Given the description of an element on the screen output the (x, y) to click on. 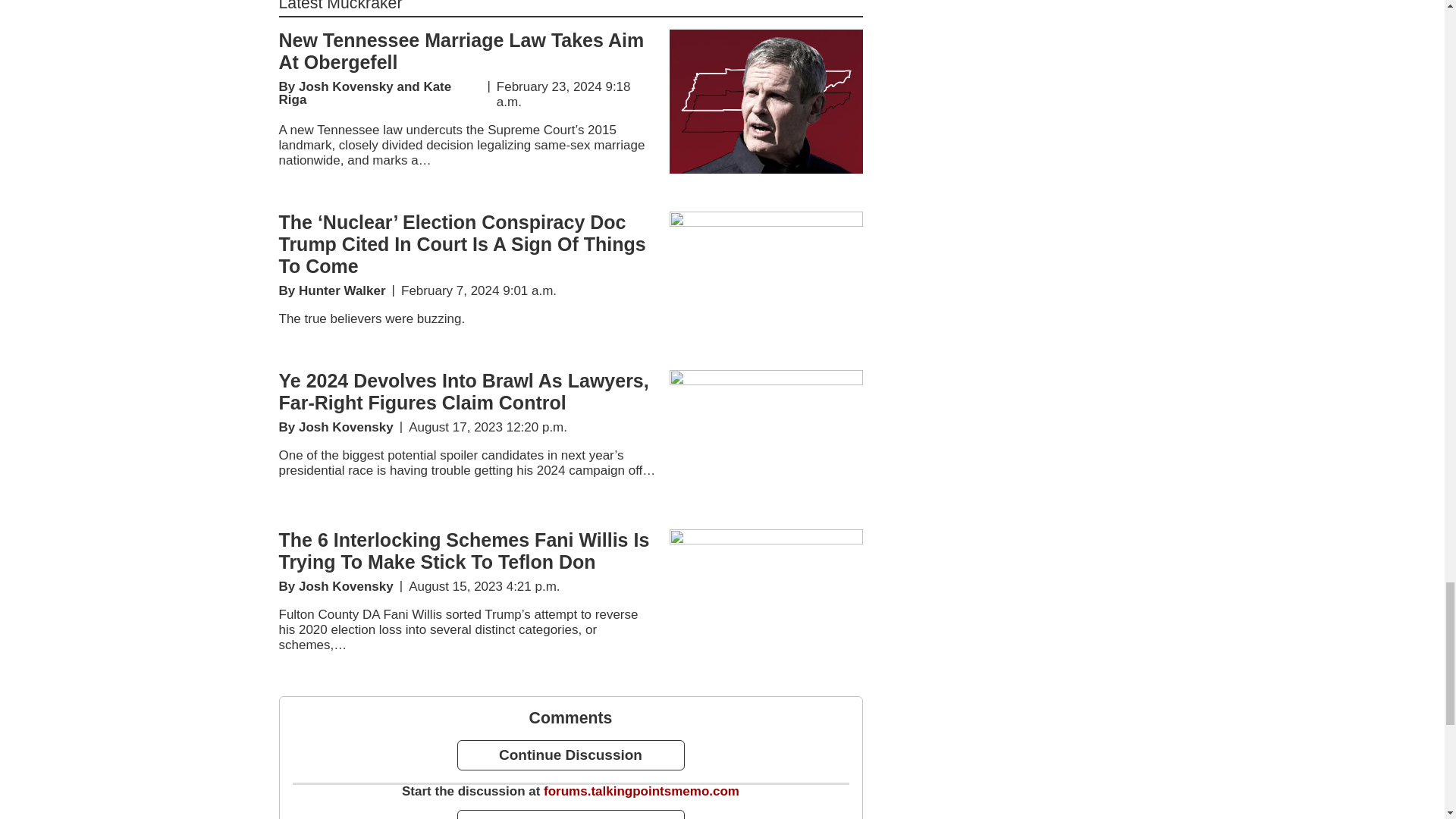
Posts by Josh Kovensky (345, 427)
Posts by Hunter Walker (341, 290)
Posts by Kate Riga (365, 93)
Posts by Josh Kovensky (345, 86)
Posts by Josh Kovensky (345, 586)
